Given the description of an element on the screen output the (x, y) to click on. 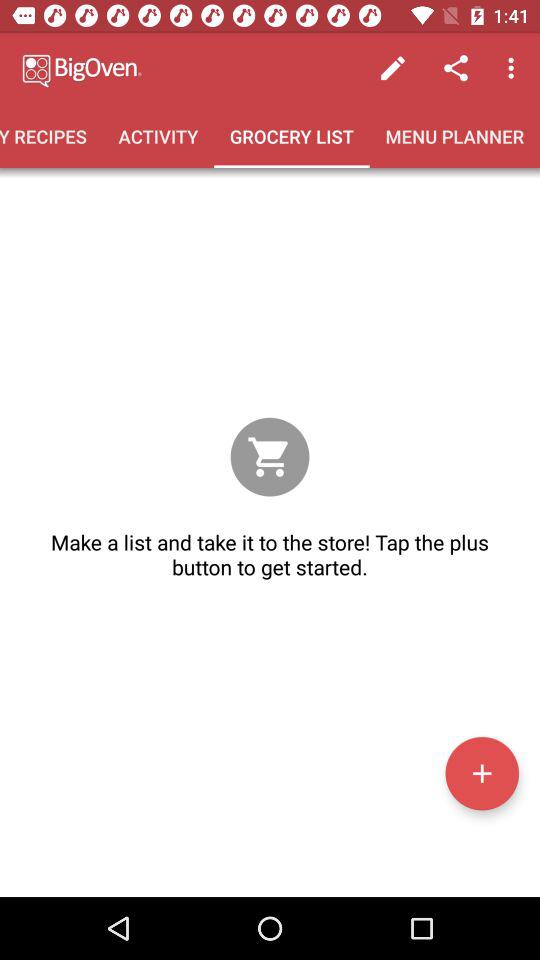
select icon above menu planner icon (455, 67)
